Given the description of an element on the screen output the (x, y) to click on. 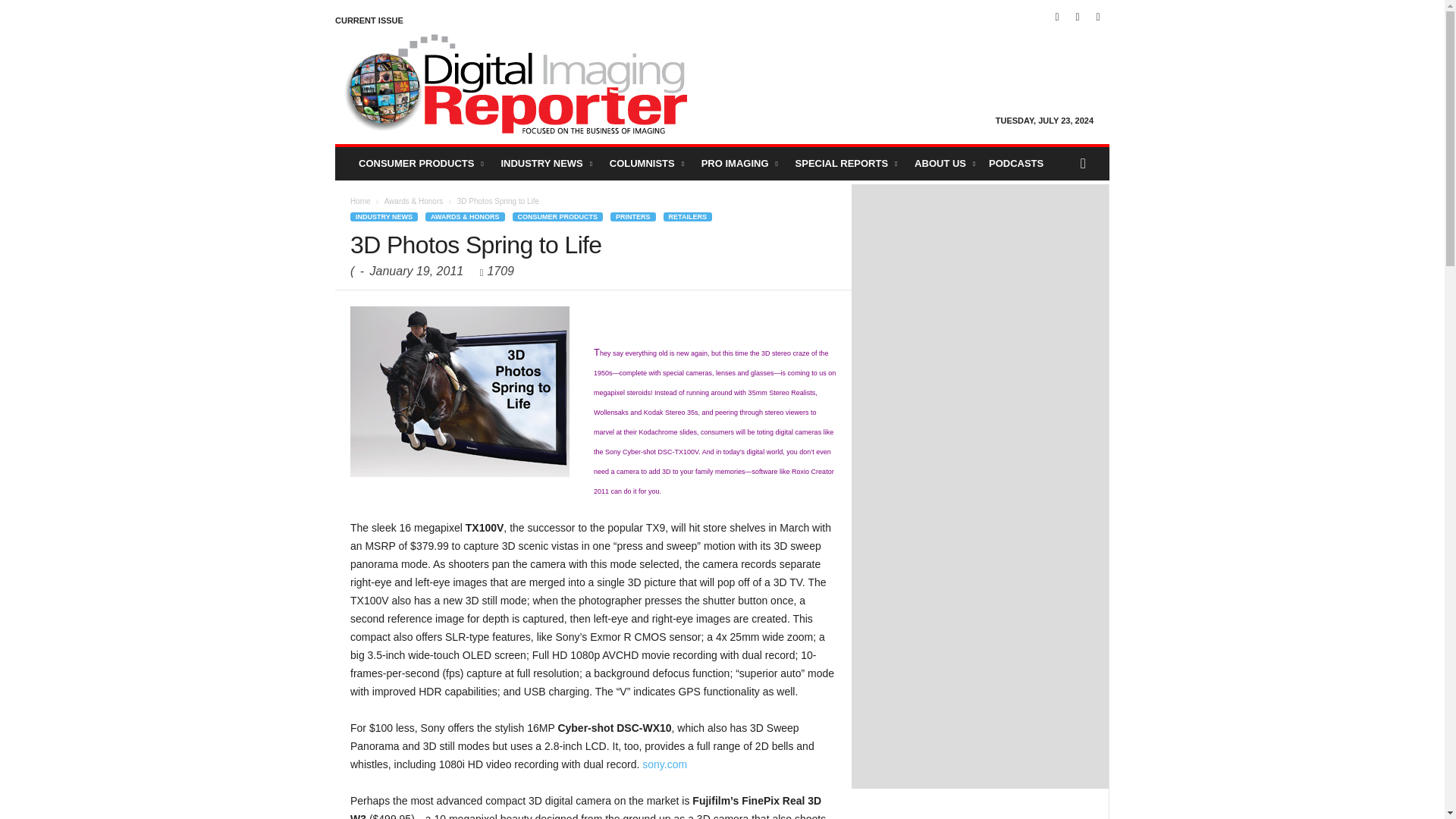
Facebook (1056, 17)
3rd party ad content (980, 285)
3rd party ad content (980, 484)
Instagram (1077, 17)
Twitter (1097, 17)
3d-thumb.jpg (459, 391)
